Given the description of an element on the screen output the (x, y) to click on. 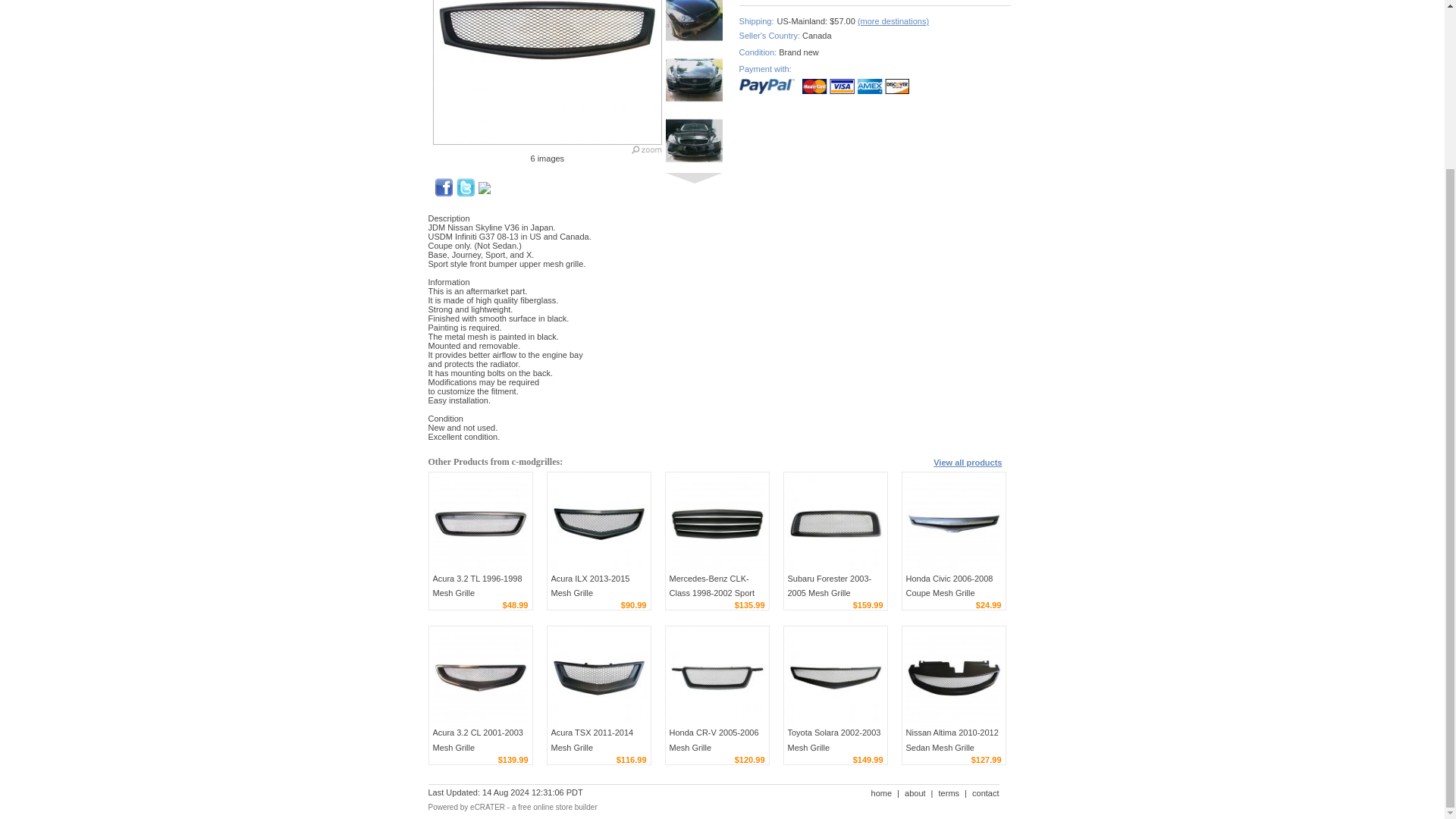
Honda CR-V 2005-2006 Mesh Grille (713, 739)
Acura TSX 2011-2014 Mesh Grille (591, 739)
Subaru Forester 2003-2005 Mesh Grille (834, 523)
Acura 3.2 TL 1996-1998 Mesh Grille (476, 585)
Nissan Altima 2010-2012 Sedan Mesh Grille (953, 677)
Mercedes-Benz CLK-Class 1998-2002 Sport Grille (711, 592)
Acura 3.2 CL 2001-2003 Mesh Grille (477, 739)
Acura 3.2 CL 2001-2003 Mesh Grille (477, 739)
Acura ILX 2013-2015 Mesh Grille (589, 585)
Toyota Solara 2002-2003 Mesh Grille (834, 677)
